Given the description of an element on the screen output the (x, y) to click on. 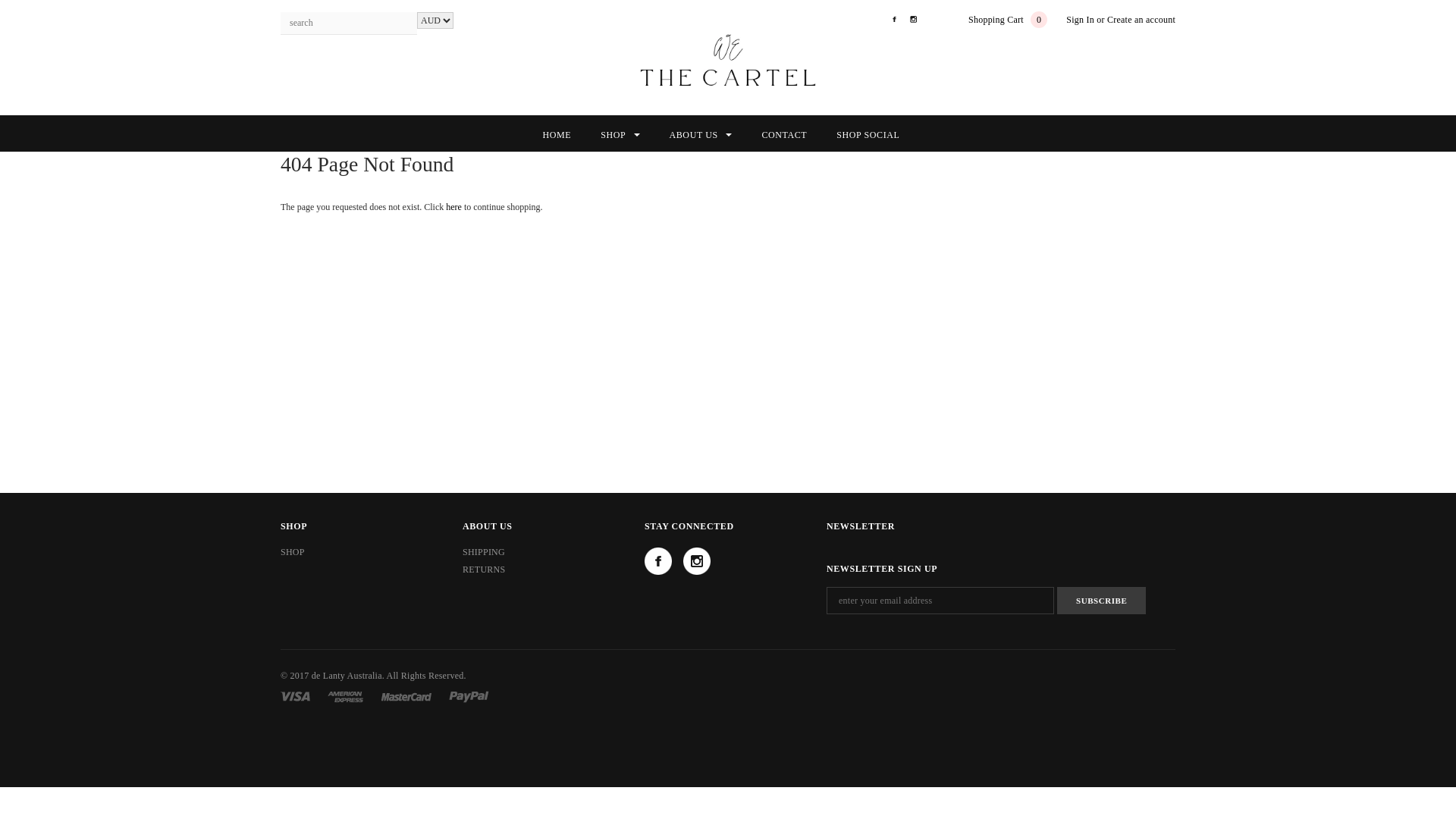
CONTACT Element type: text (783, 134)
Search Element type: text (405, 23)
RETURNS Element type: text (483, 569)
Facebook Element type: text (895, 20)
here Element type: text (453, 206)
Shopping Cart 0 Element type: text (1007, 19)
Paypal Element type: hover (468, 695)
Sign In Element type: text (1080, 19)
American express Element type: hover (345, 695)
Create an account Element type: text (1141, 19)
Mastercard Element type: hover (405, 695)
Instagram Element type: text (914, 20)
SHOP Element type: text (619, 134)
We The Cartel | de Lanty Australia on Instagram Element type: hover (696, 560)
Subscribe Element type: text (1101, 600)
ABOUT US Element type: text (699, 134)
Visa Element type: hover (295, 695)
SHOP Element type: text (292, 551)
SHOP SOCIAL Element type: text (867, 134)
HOME Element type: text (556, 134)
SHIPPING Element type: text (483, 551)
We The Cartel | de Lanty Australia on Facebook Element type: hover (657, 560)
